Given the description of an element on the screen output the (x, y) to click on. 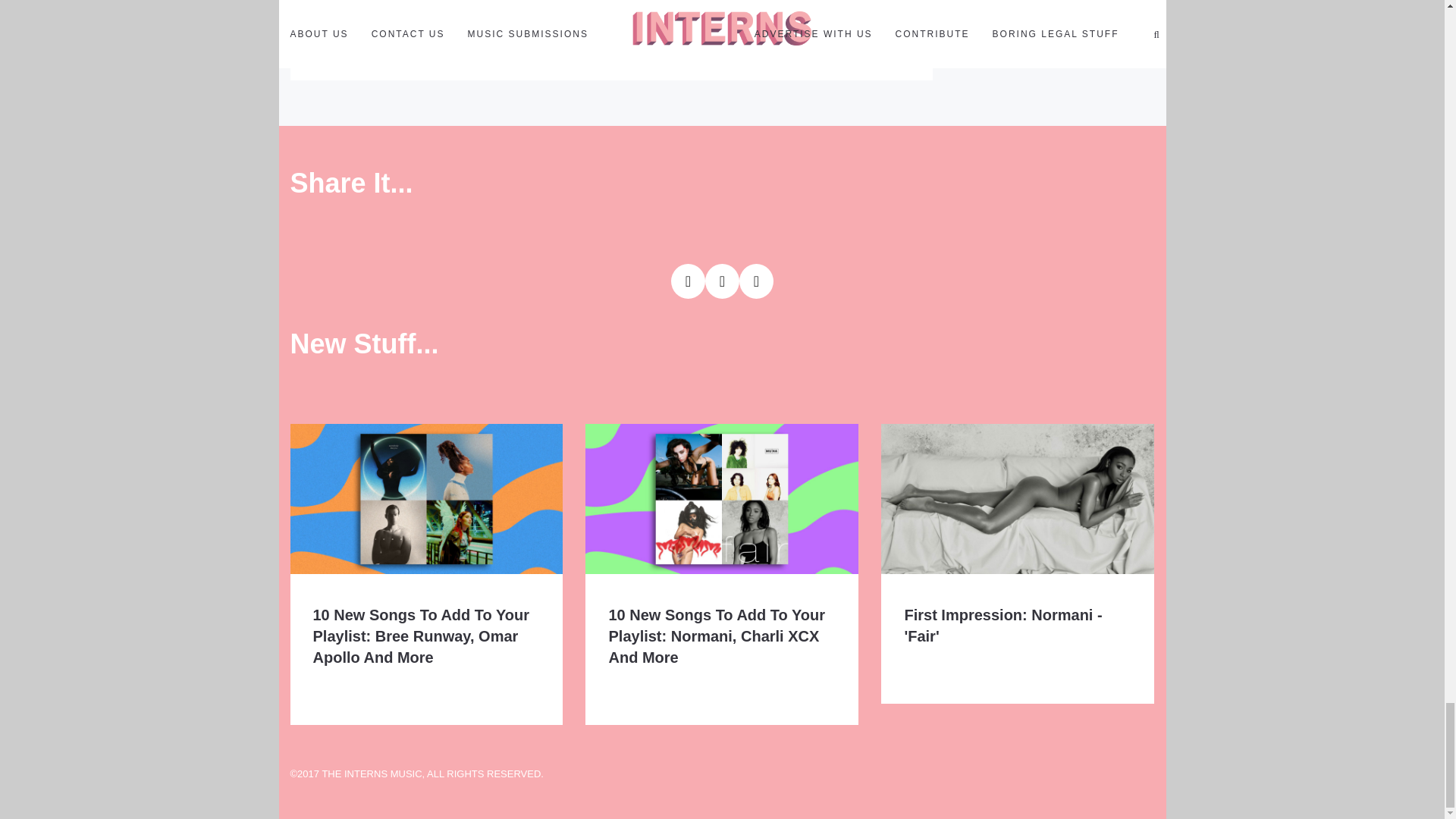
10 songs you need to hear this week (381, 57)
First Impression: Normani - 'Fair' (1003, 625)
new music (489, 57)
